Given the description of an element on the screen output the (x, y) to click on. 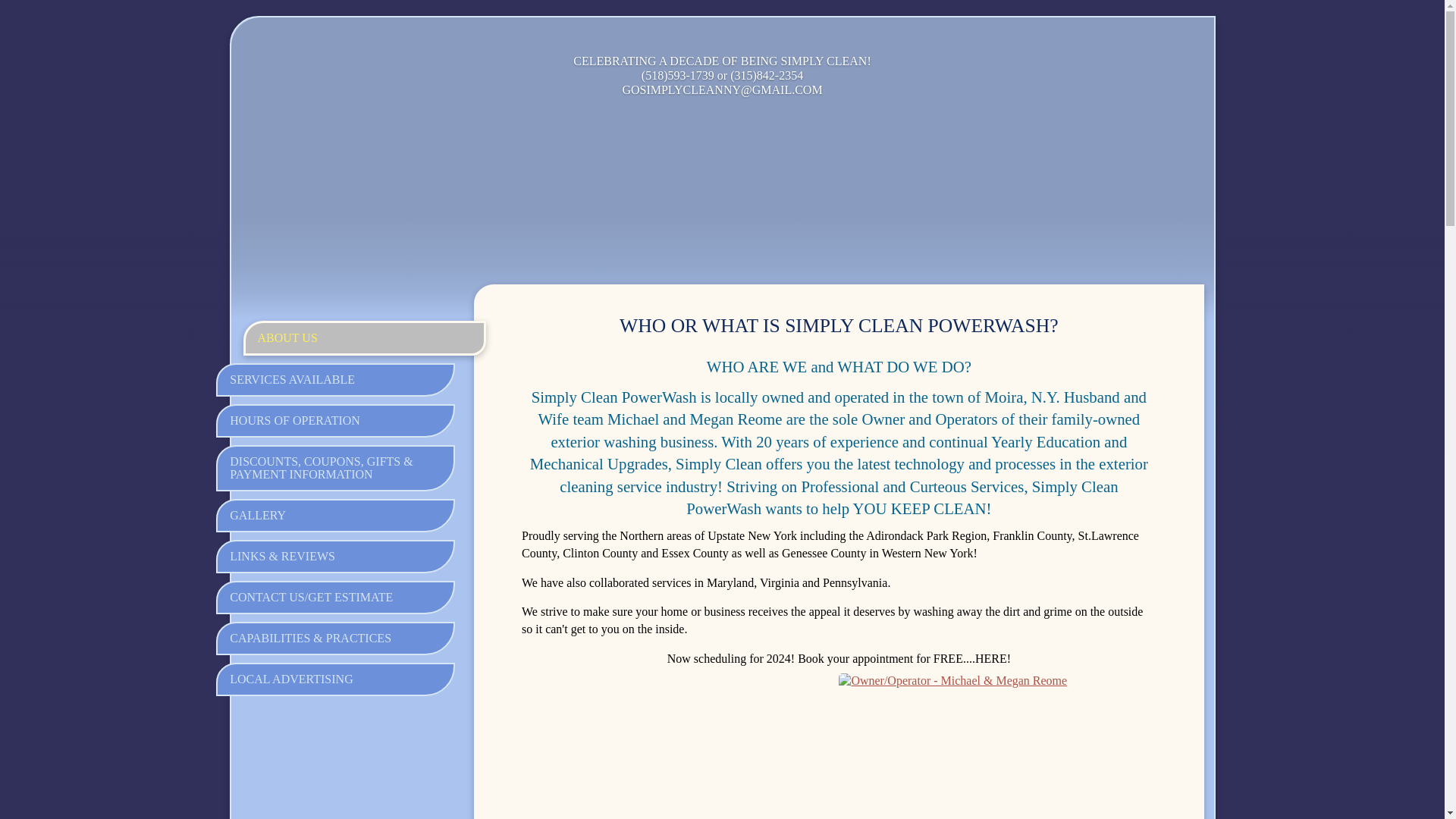
SERVICES AVAILABLE (334, 379)
HOURS OF OPERATION (334, 420)
ABOUT US (364, 338)
GALLERY (334, 515)
LOCAL ADVERTISING (334, 679)
